Given the description of an element on the screen output the (x, y) to click on. 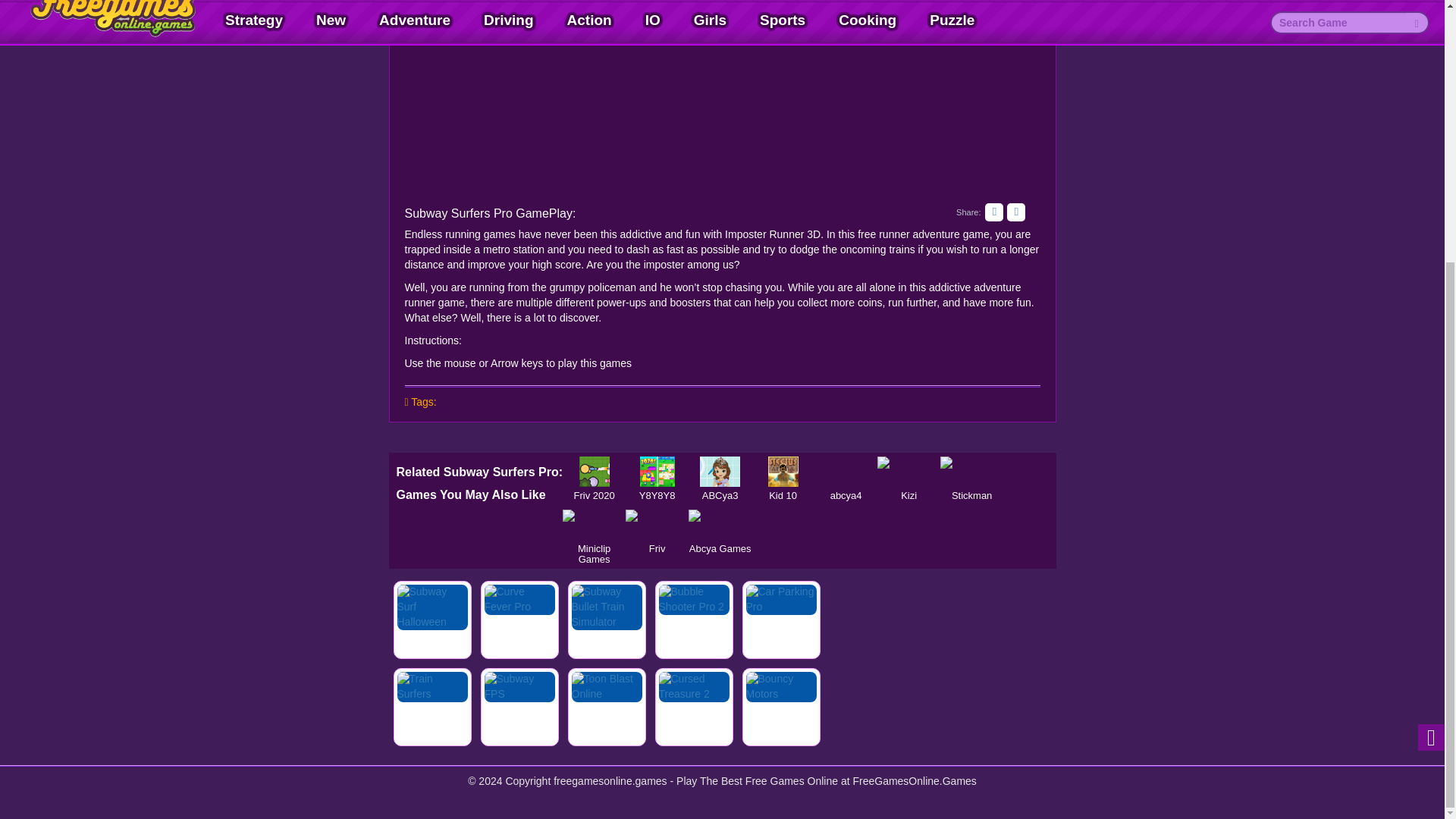
ABCya3 (719, 471)
Stickman (971, 471)
Kid 10 (782, 471)
Y8Y8Y8 (657, 471)
Abcya Games (719, 524)
ABCya3 (719, 471)
Kizi (908, 471)
Y8Y8Y8 (657, 471)
abcya4 (845, 471)
Kizi (908, 471)
